Given the description of an element on the screen output the (x, y) to click on. 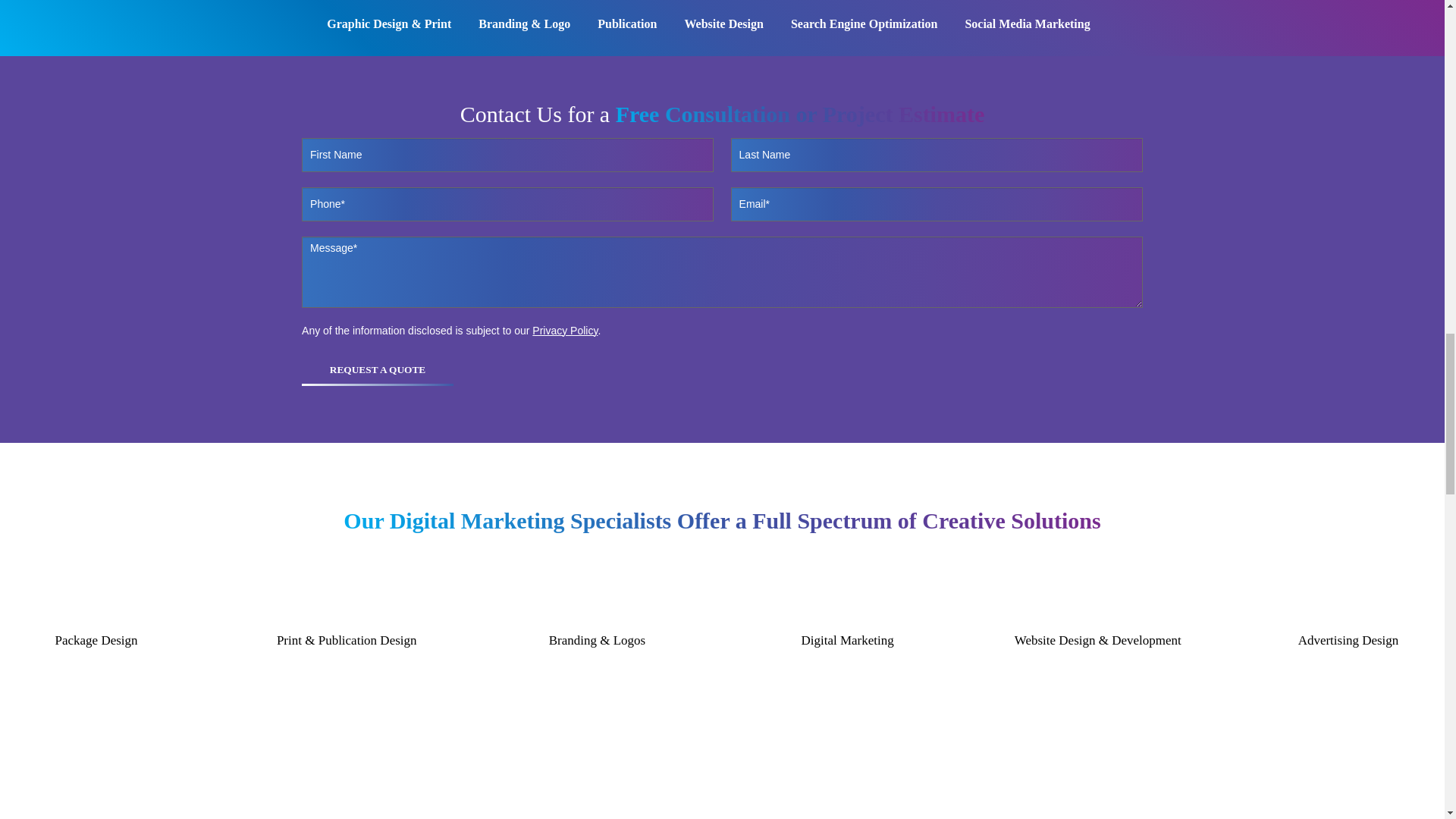
logo-branding-icon (596, 594)
graphic-design-icon (95, 594)
graphic-design-icon (846, 594)
website-design-icon (1097, 594)
advertising-design-icon (1348, 594)
